Given the description of an element on the screen output the (x, y) to click on. 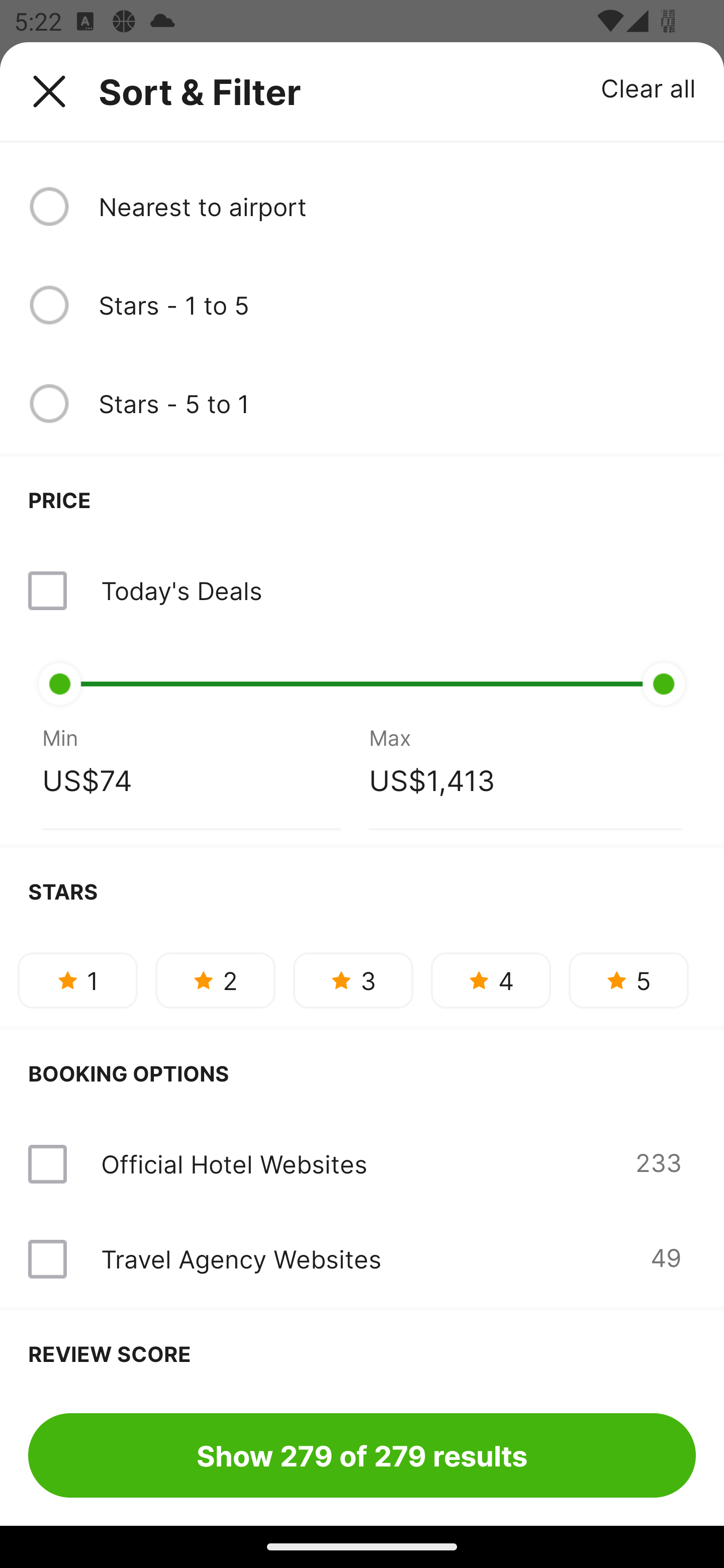
Clear all (648, 87)
Nearest to airport (396, 206)
Stars - 1 to 5 (396, 304)
Stars - 5 to 1 (396, 403)
Today's Deals (362, 590)
Today's Deals (181, 590)
1 (77, 979)
2 (214, 979)
3 (352, 979)
4 (491, 979)
5 (627, 979)
Official Hotel Websites 233 (362, 1164)
Official Hotel Websites (233, 1164)
Travel Agency Websites 49 (362, 1259)
Travel Agency Websites (240, 1258)
Show 279 of 279 results (361, 1454)
